Given the description of an element on the screen output the (x, y) to click on. 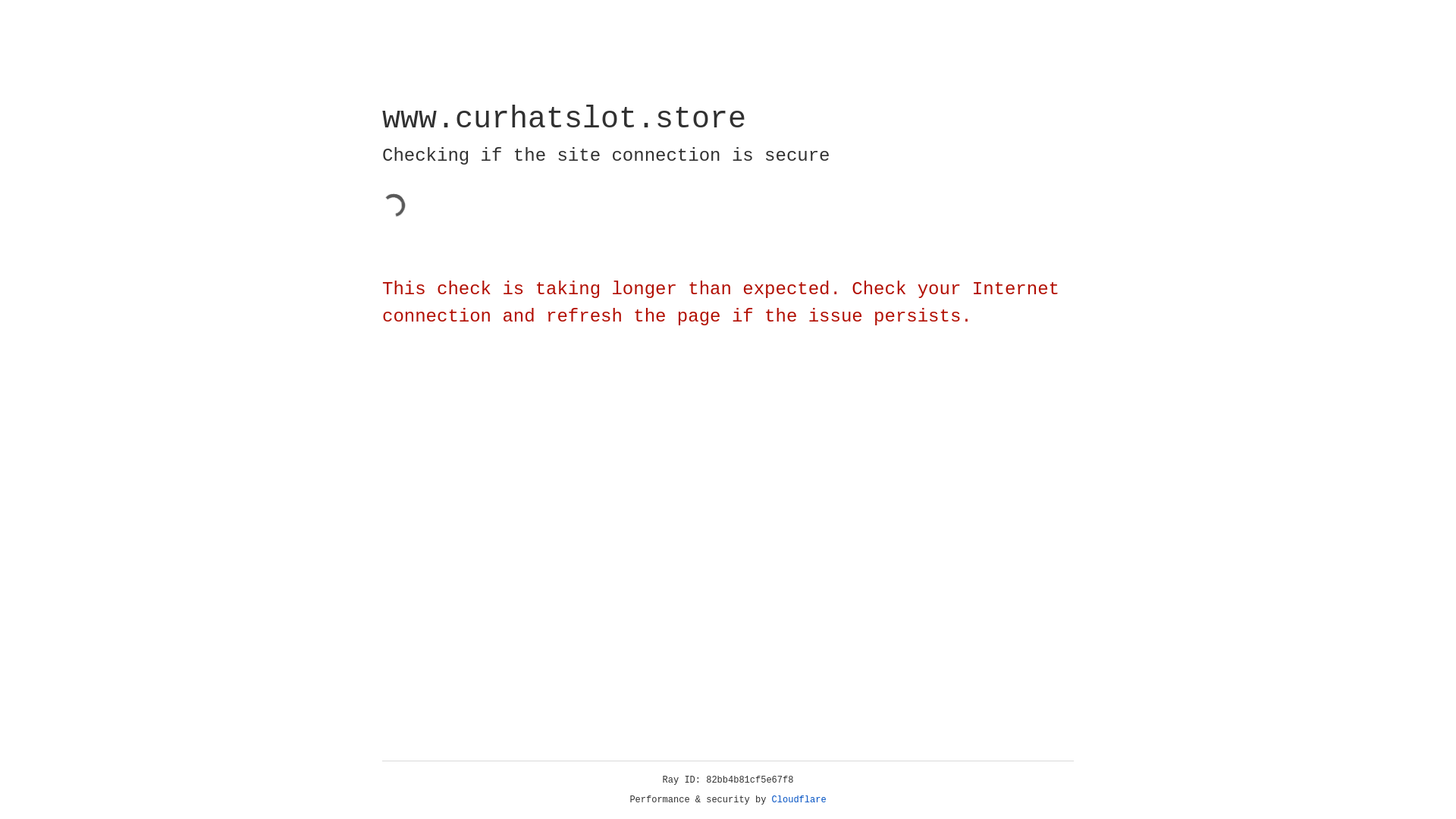
Cloudflare Element type: text (798, 799)
